Given the description of an element on the screen output the (x, y) to click on. 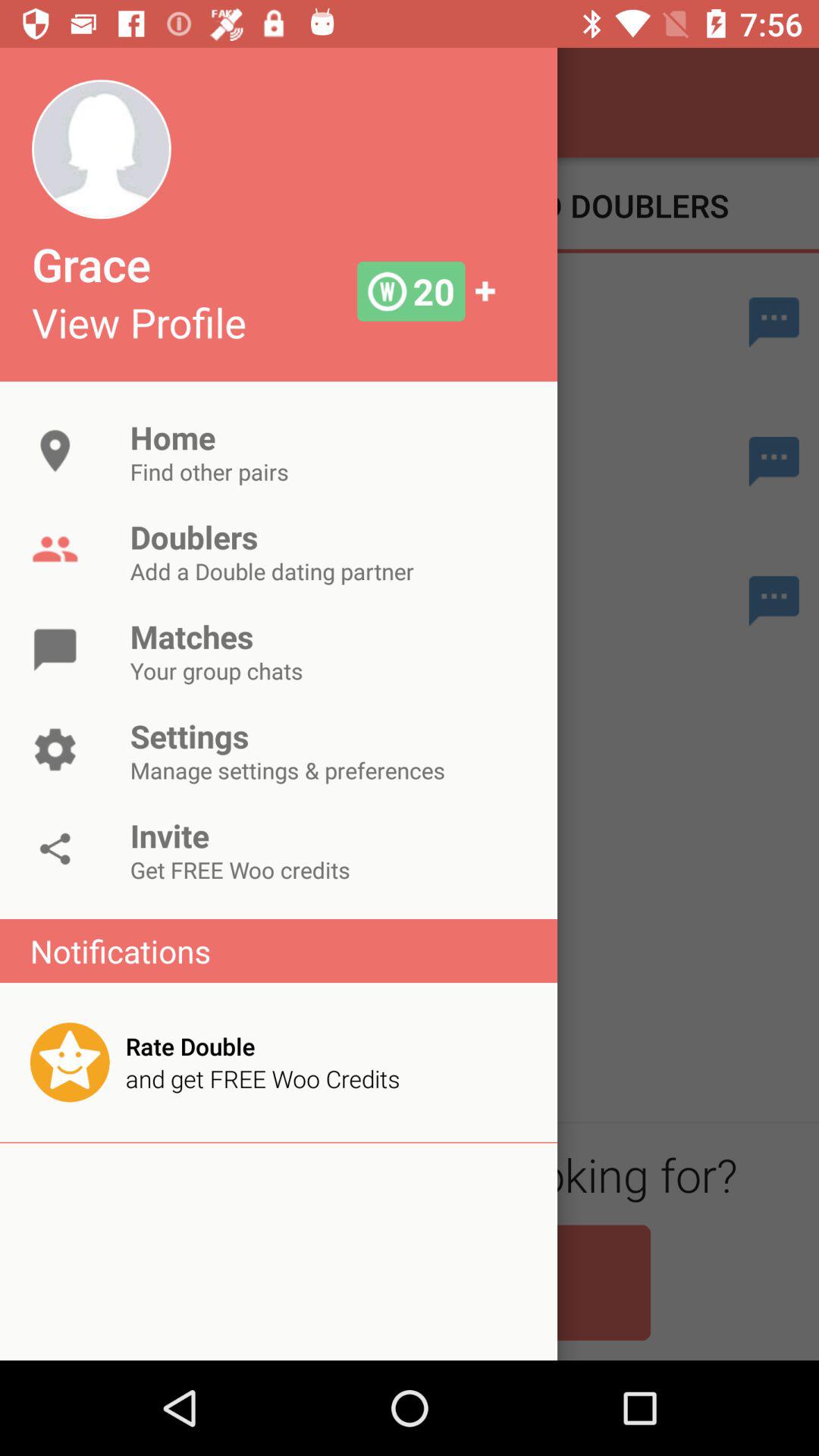
select the logo beside doublers (55, 550)
click on the 1st message icon which is right side of the page (774, 322)
click on icon left to matches (55, 649)
